Given the description of an element on the screen output the (x, y) to click on. 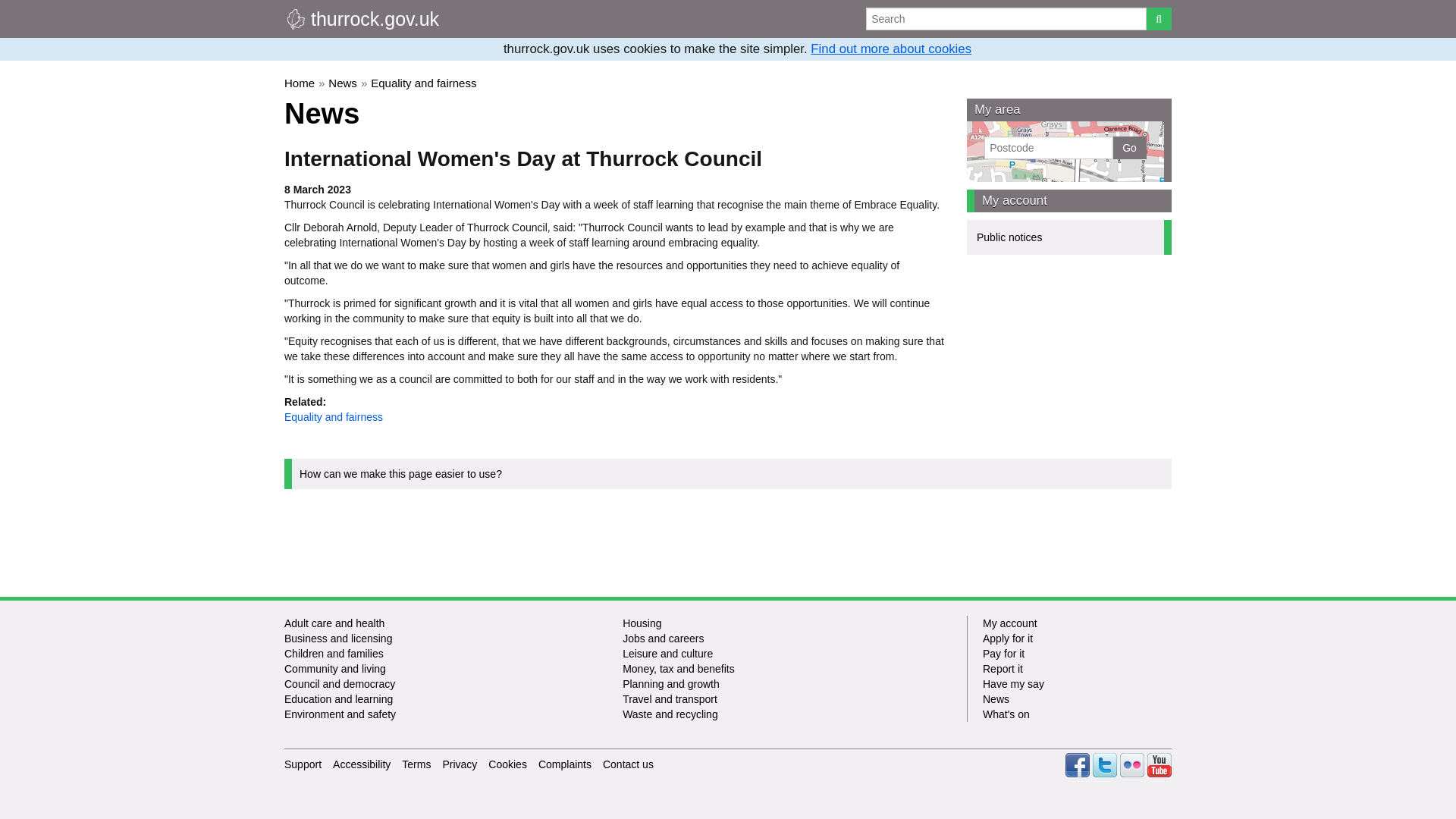
Pay for it (1077, 653)
Enter postcode to search my area (1048, 147)
Community and living (334, 668)
Leisure and culture (668, 653)
Apply for it (1077, 638)
Equality and fairness (423, 82)
Council and democracy (338, 684)
Jobs and careers (663, 638)
What's on (1077, 713)
How can we make this page easier to use? (400, 473)
Waste and recycling (670, 714)
Go (1129, 147)
Equality and fairness (332, 417)
Home (298, 82)
Adult care and health (333, 623)
